Given the description of an element on the screen output the (x, y) to click on. 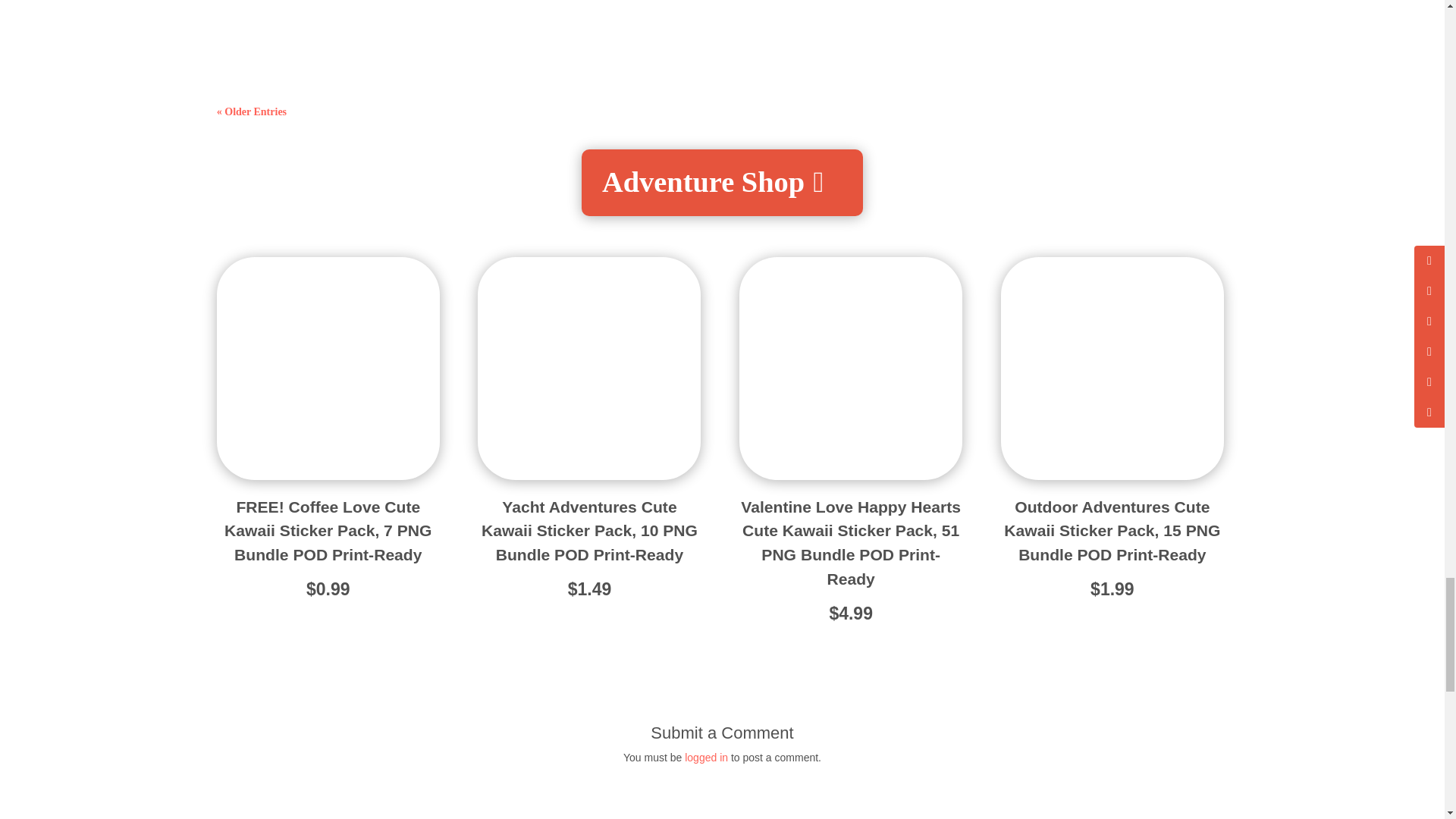
Adventure Shop (721, 182)
